Given the description of an element on the screen output the (x, y) to click on. 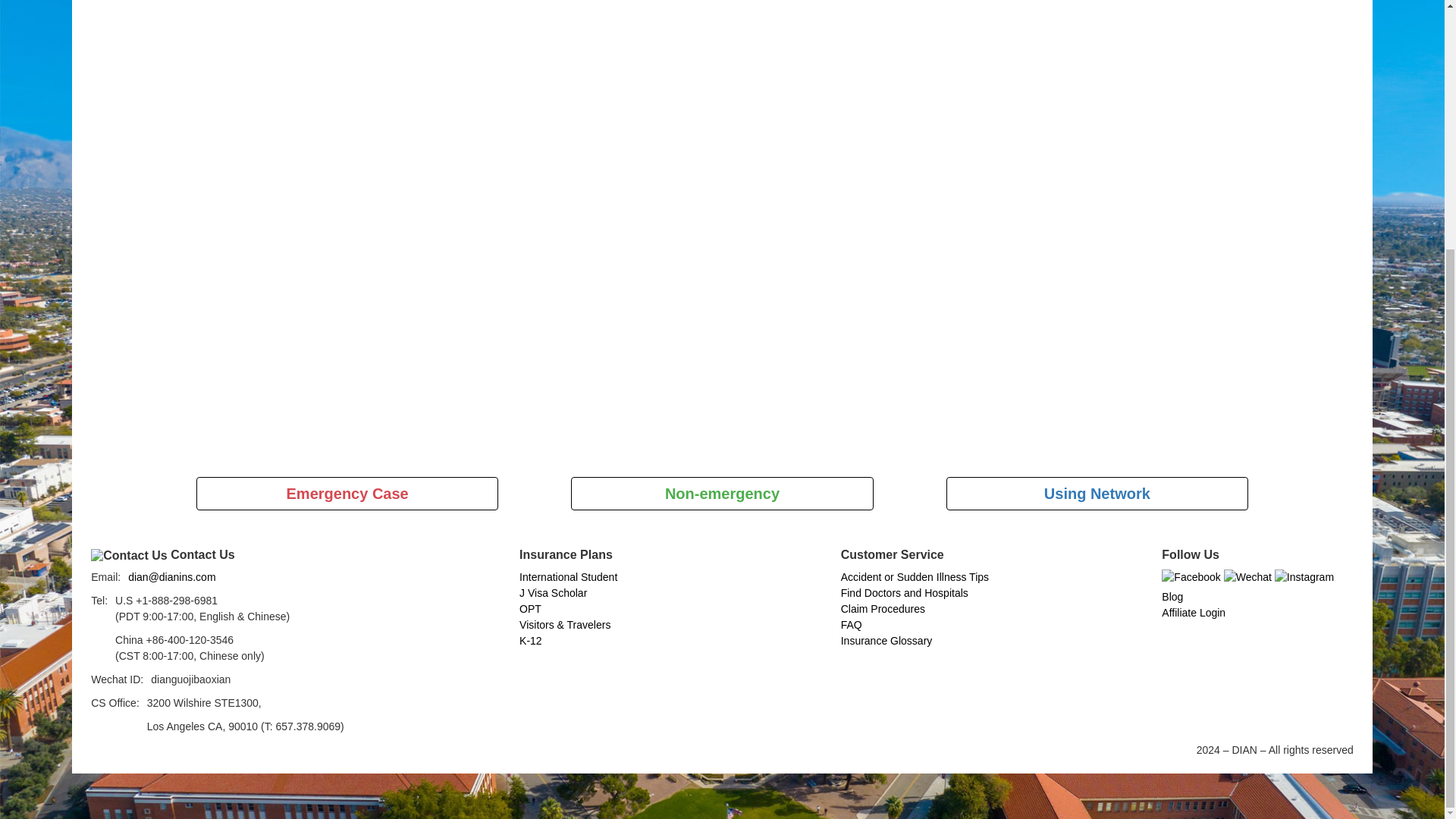
Wechat (1247, 576)
Instagram (1304, 576)
Facebook Fan Page (1190, 576)
